Given the description of an element on the screen output the (x, y) to click on. 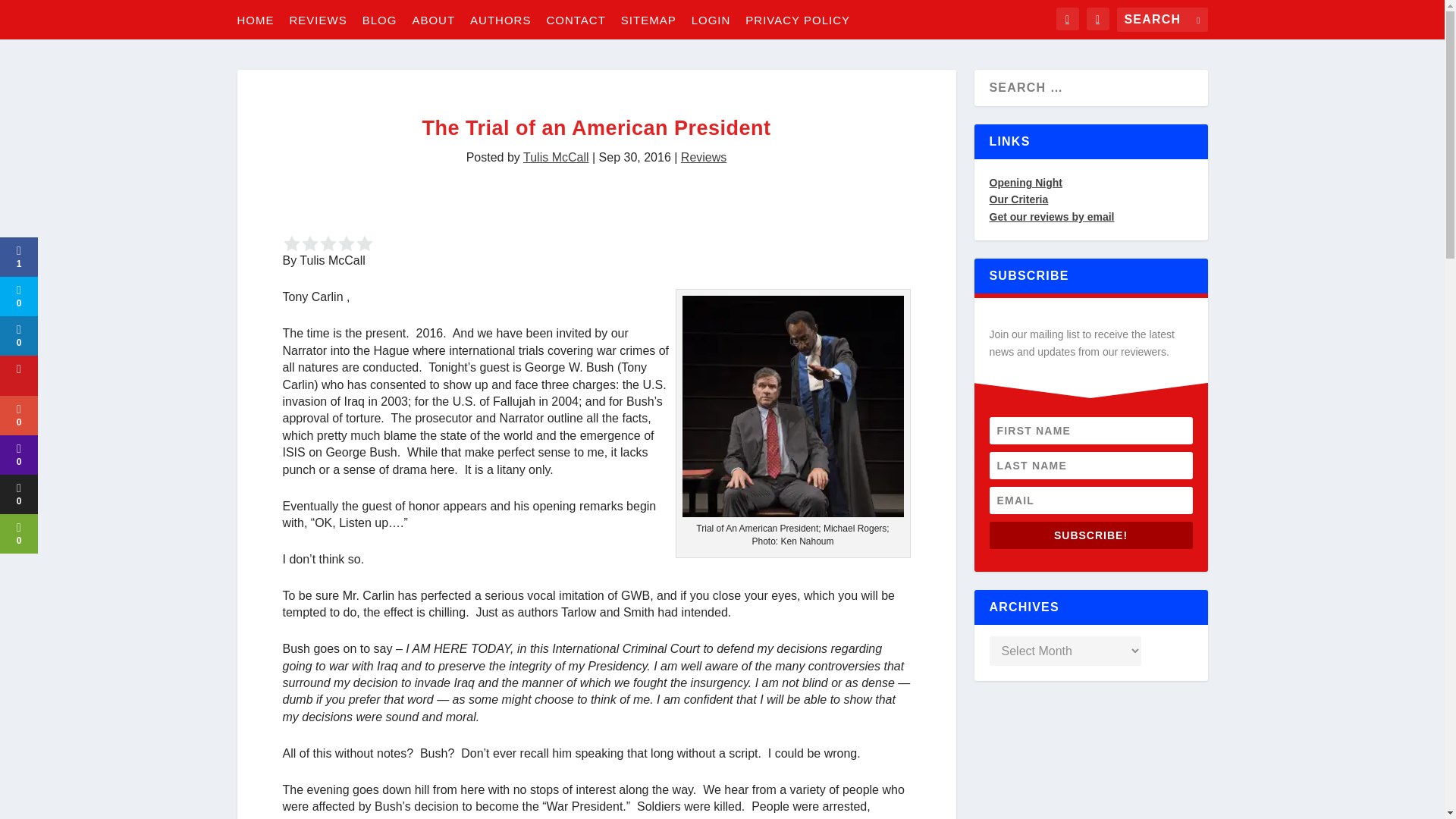
ABOUT (433, 19)
PRIVACY POLICY (797, 19)
REVIEWS (318, 19)
Posts by Tulis McCall (555, 156)
AUTHORS (500, 19)
BLOG (379, 19)
CONTACT (575, 19)
SITEMAP (649, 19)
Search for: (1161, 19)
LOGIN (710, 19)
HOME (254, 19)
